Given the description of an element on the screen output the (x, y) to click on. 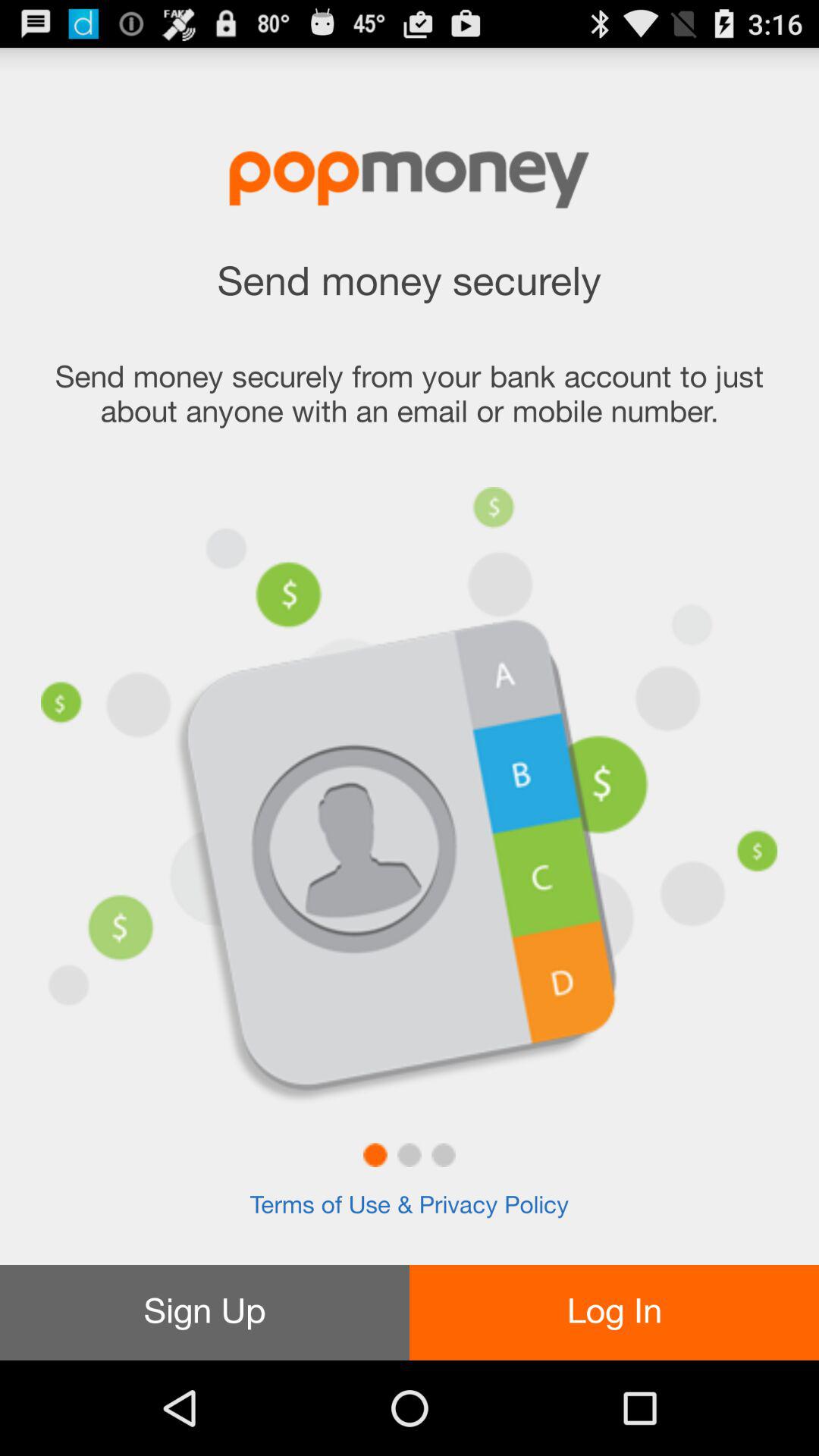
click the log in item (614, 1312)
